Given the description of an element on the screen output the (x, y) to click on. 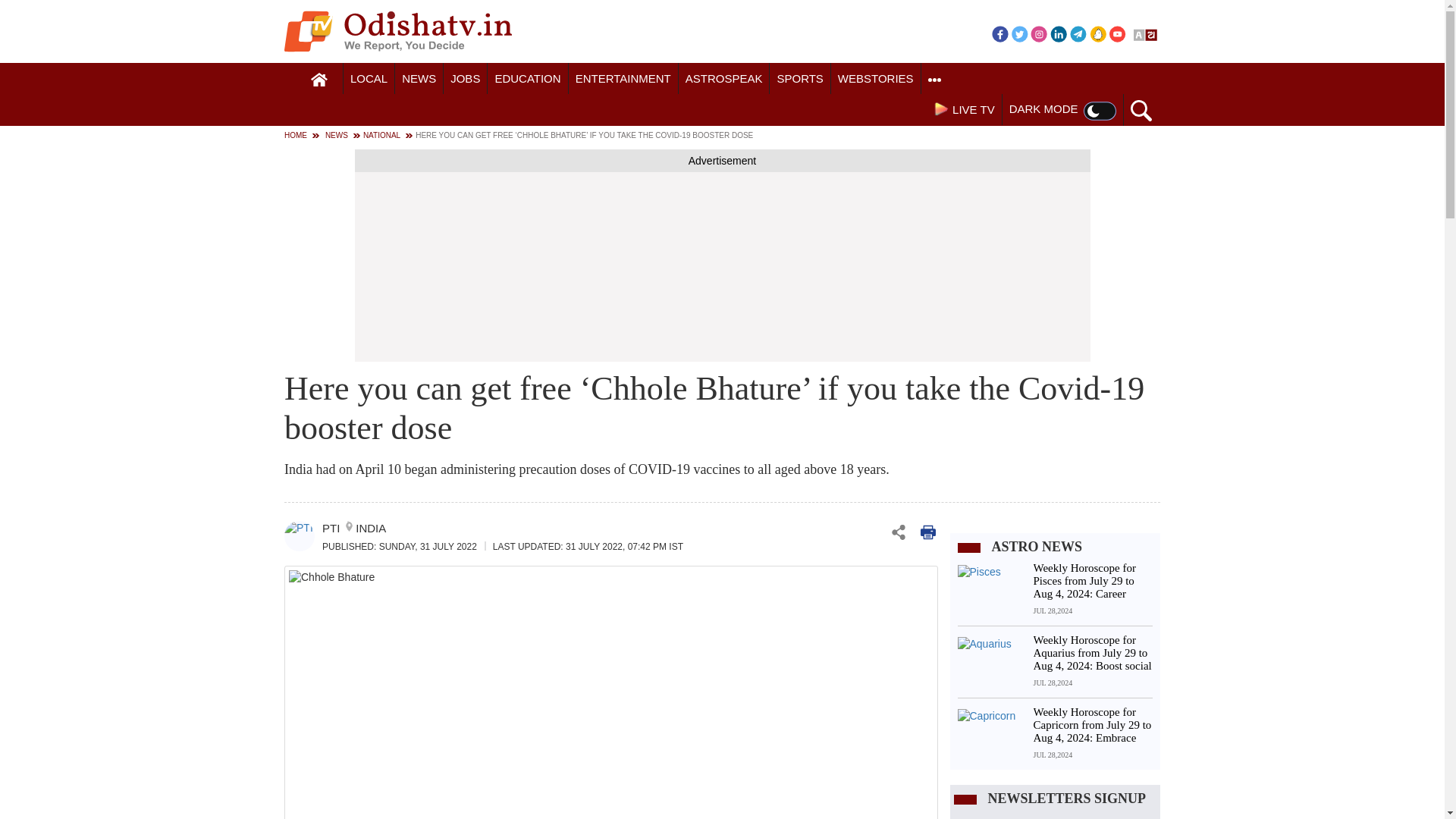
ENTERTAINMENT (623, 78)
Facebook (1000, 33)
Twitter (1019, 33)
Telegram (1078, 33)
LinkedIn (1058, 33)
LOCAL (368, 78)
Home Icon (319, 79)
Youtube (1117, 33)
Odisha (368, 78)
Koo (1097, 33)
Instagram (1038, 33)
OdishaTV (397, 31)
JOBS (465, 78)
EDUCATION (527, 78)
News (418, 78)
